Given the description of an element on the screen output the (x, y) to click on. 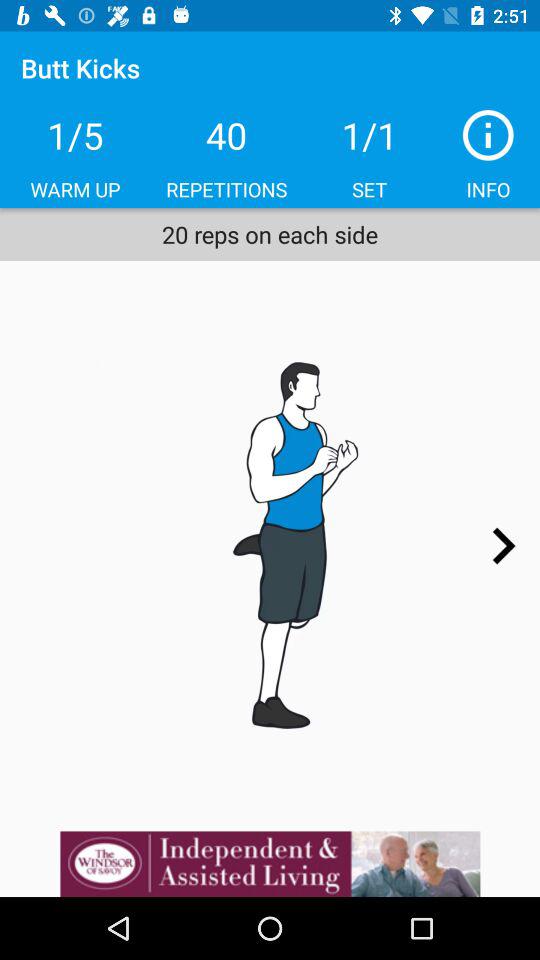
open advertisement (270, 864)
